Given the description of an element on the screen output the (x, y) to click on. 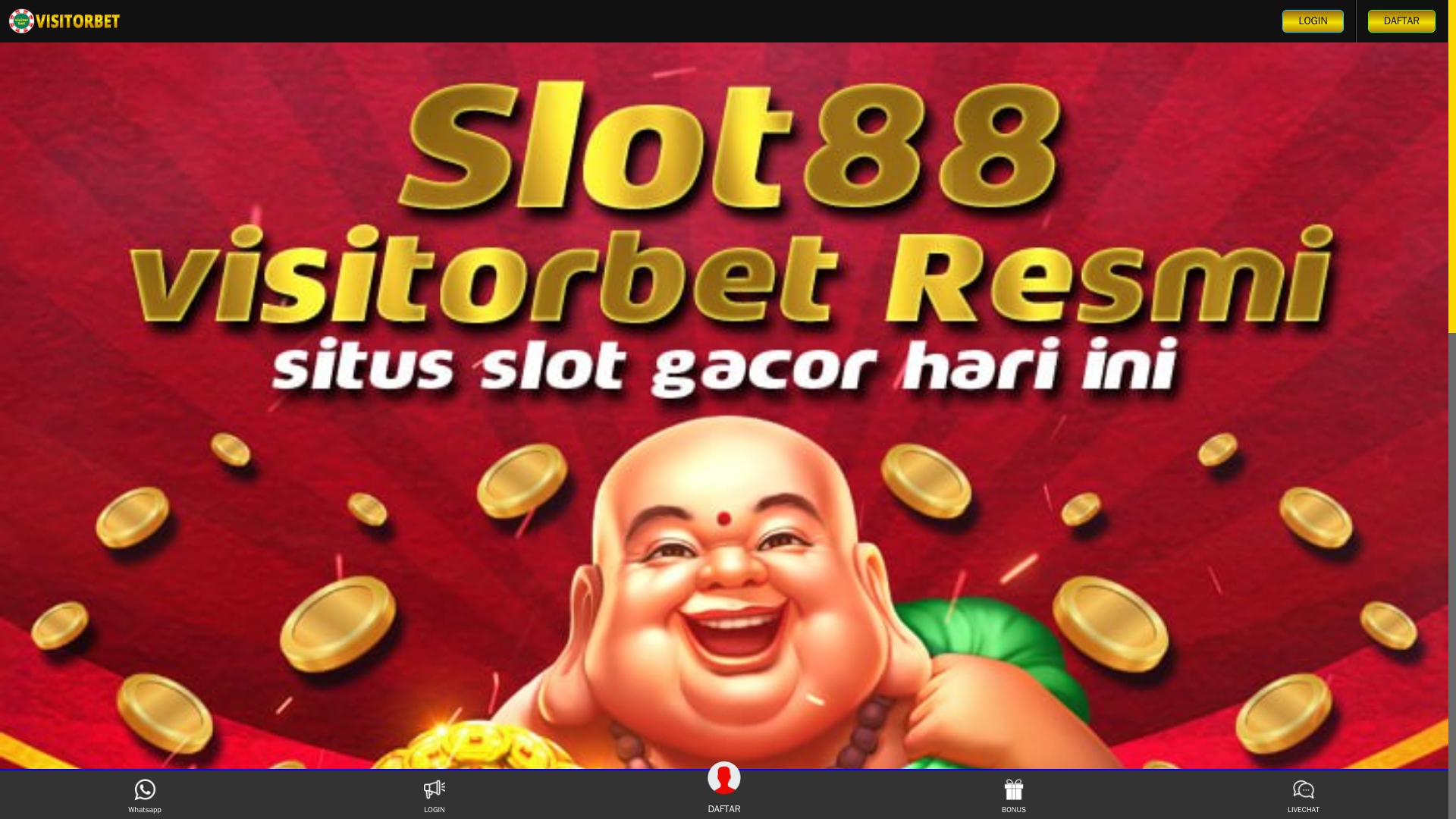
DAFTAR (1401, 20)
LOGIN (434, 796)
BONUS (1013, 796)
LIVECHAT (1303, 796)
Whatsapp (144, 796)
LOGIN (1312, 20)
DAFTAR (640, 774)
